Given the description of an element on the screen output the (x, y) to click on. 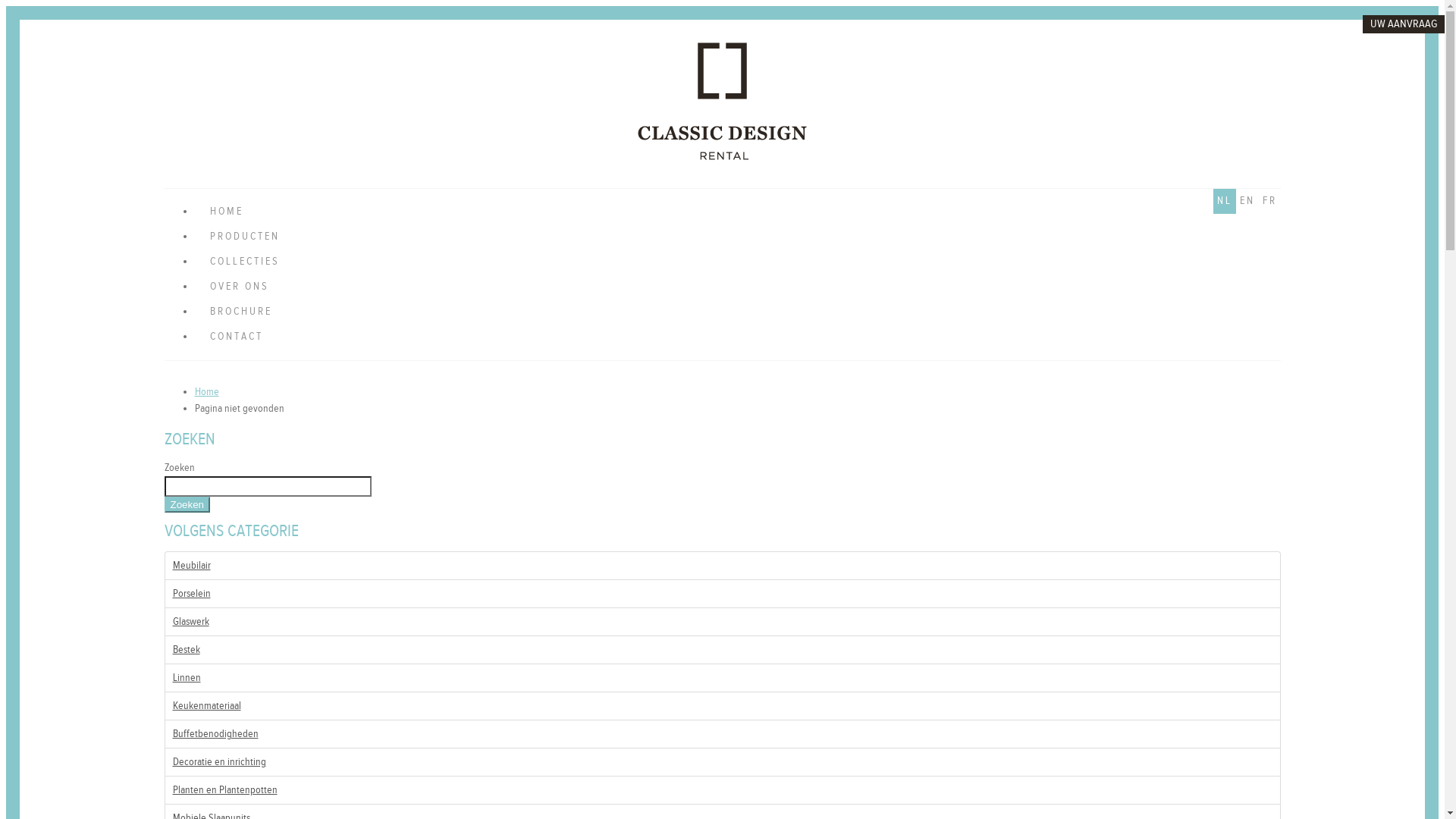
Classic Design Rental Element type: hover (721, 156)
CONTACT Element type: text (737, 336)
Decoratie en inrichting Element type: text (721, 761)
OVER ONS Element type: text (737, 286)
Meubilair Element type: text (721, 565)
Bestek Element type: text (721, 649)
Linnen Element type: text (721, 677)
FR Element type: text (1269, 200)
PRODUCTEN Element type: text (737, 236)
EN Element type: text (1247, 200)
Keukenmateriaal Element type: text (721, 705)
Home Element type: text (206, 391)
Zoeken Element type: text (186, 504)
COLLECTIES Element type: text (737, 261)
Glaswerk Element type: text (721, 621)
NL Element type: text (1224, 200)
UW AANVRAAG Element type: text (1403, 24)
Buffetbenodigheden Element type: text (721, 733)
Planten en Plantenpotten Element type: text (721, 789)
HOME Element type: text (737, 211)
Porselein Element type: text (721, 593)
BROCHURE Element type: text (737, 311)
